Given the description of an element on the screen output the (x, y) to click on. 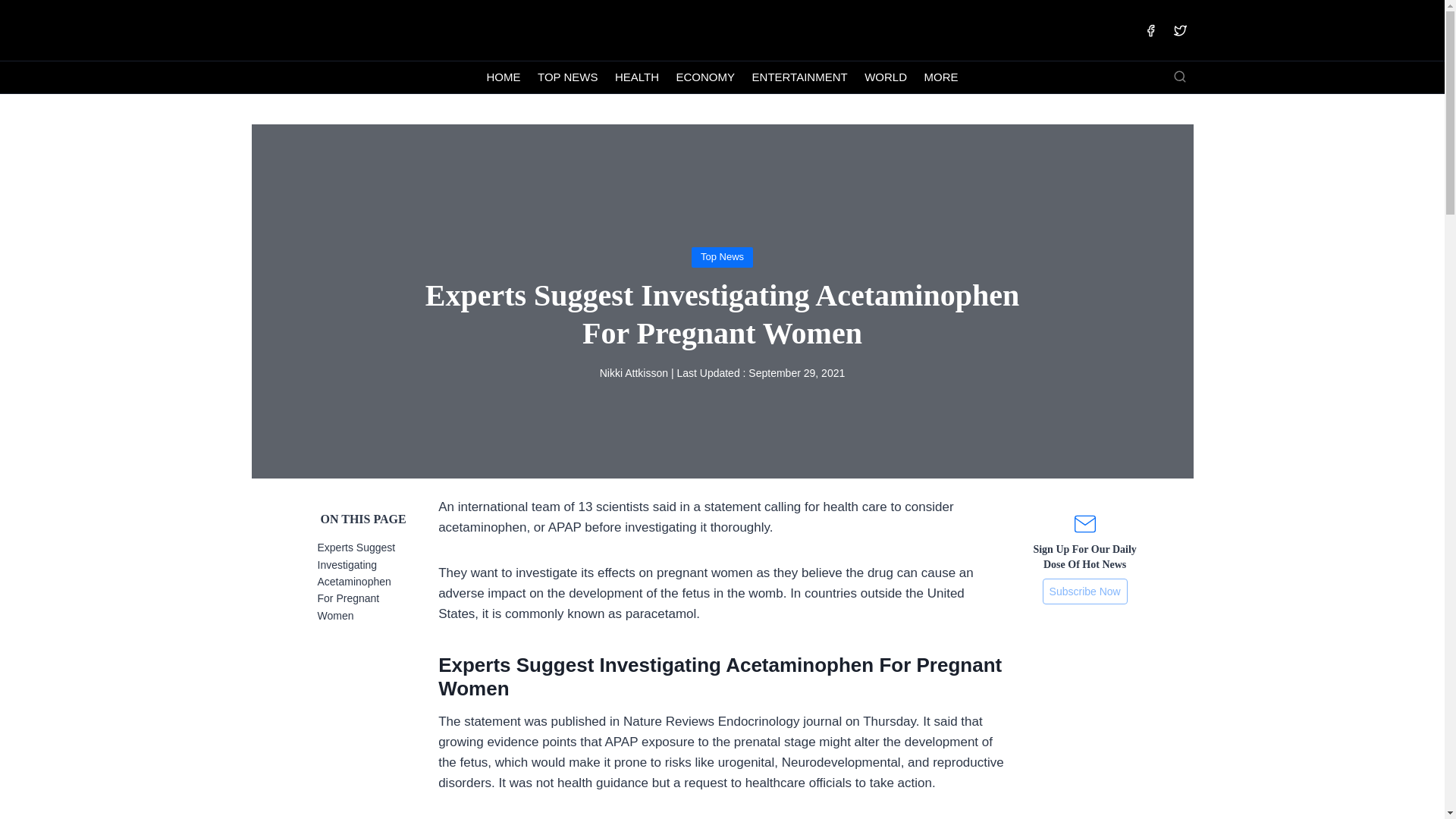
Top News (722, 256)
ENTERTAINMENT (799, 77)
TOP NEWS (568, 77)
HEALTH (637, 77)
HOME (503, 77)
ECONOMY (704, 77)
Subscribe Now (1084, 591)
WORLD (885, 77)
